Given the description of an element on the screen output the (x, y) to click on. 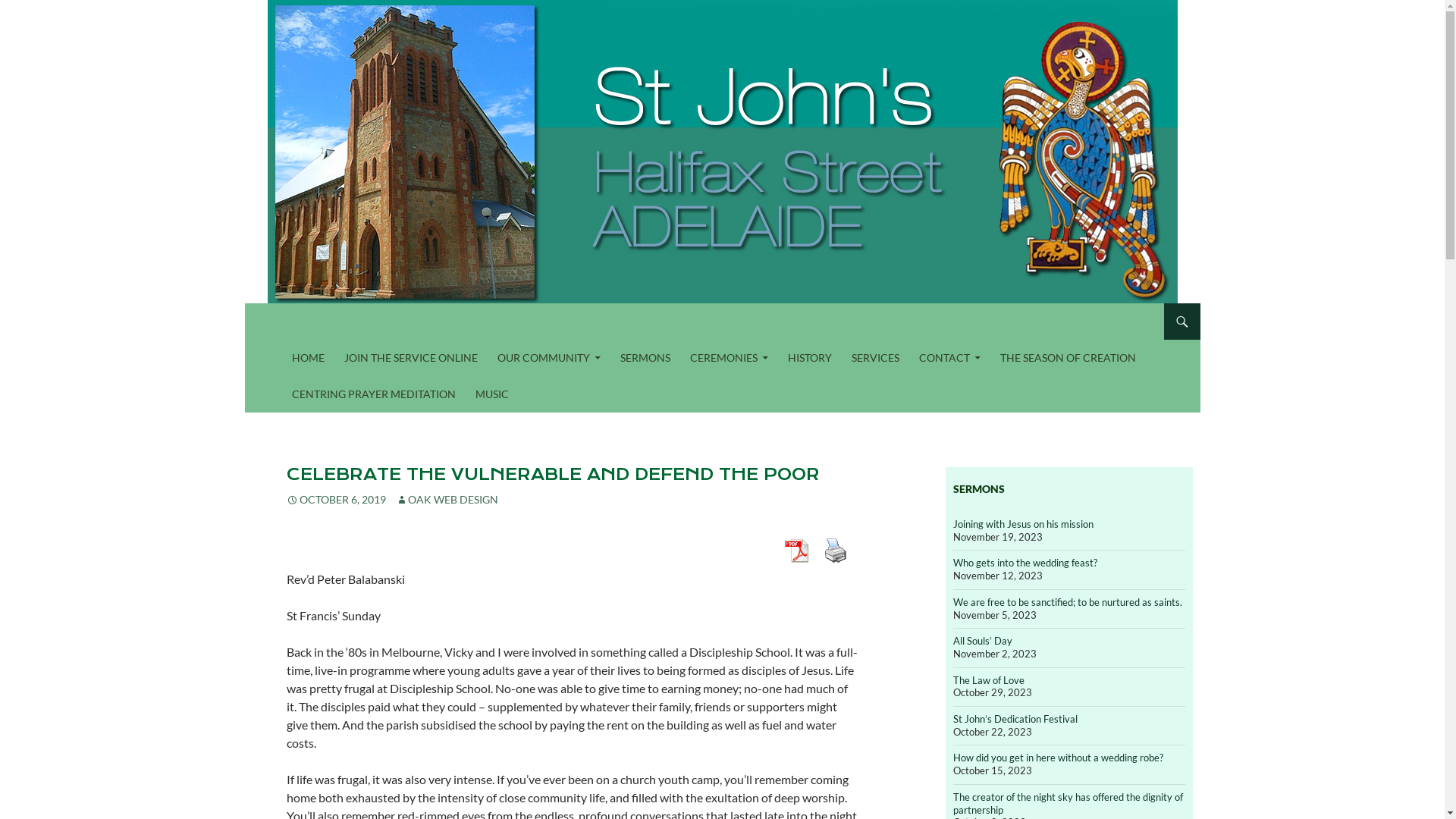
CONTACT Element type: text (949, 357)
HISTORY Element type: text (809, 357)
Joining with Jesus on his mission Element type: text (1022, 523)
We are free to be sanctified; to be nurtured as saints. Element type: text (1066, 602)
SERVICES Element type: text (874, 357)
Download PDF Element type: hover (795, 550)
OAK WEB DESIGN Element type: text (446, 498)
CEREMONIES Element type: text (728, 357)
HOME Element type: text (307, 357)
Search Element type: text (248, 303)
How did you get in here without a wedding robe? Element type: text (1057, 757)
MUSIC Element type: text (491, 394)
OCTOBER 6, 2019 Element type: text (335, 498)
SERMONS Element type: text (645, 357)
CENTRING PRAYER MEDITATION Element type: text (373, 394)
Print Content Element type: hover (834, 550)
THE SEASON OF CREATION Element type: text (1067, 357)
St John's Halifax Street ADELAIDE SA Element type: text (380, 321)
SKIP TO CONTENT Element type: text (291, 339)
The Law of Love Element type: text (987, 680)
OUR COMMUNITY Element type: text (548, 357)
Who gets into the wedding feast? Element type: text (1024, 562)
JOIN THE SERVICE ONLINE Element type: text (410, 357)
